Given the description of an element on the screen output the (x, y) to click on. 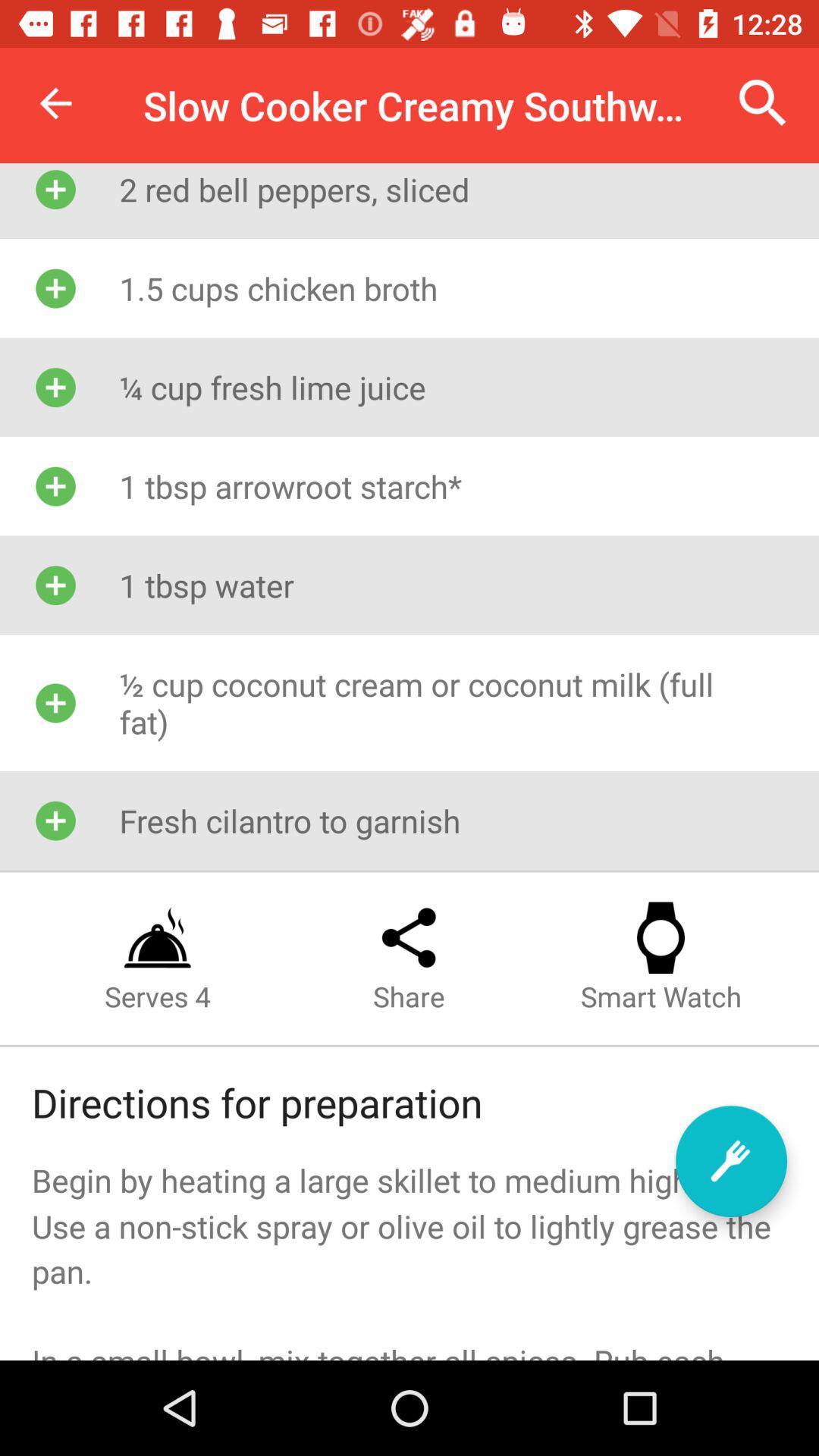
turn off the item next to the slow cooker creamy icon (55, 103)
